Given the description of an element on the screen output the (x, y) to click on. 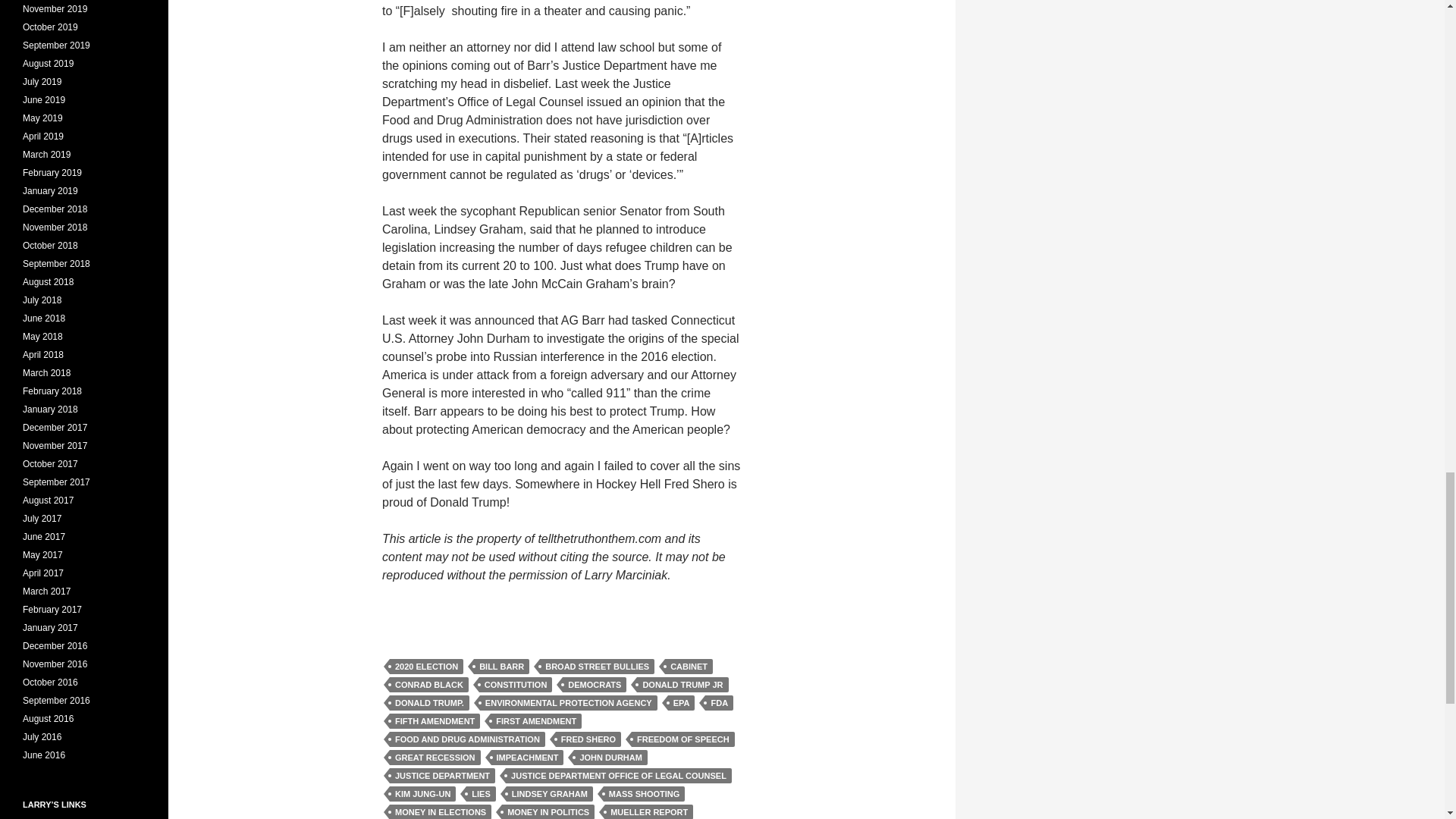
JUSTICE DEPARTMENT OFFICE OF LEGAL COUNSEL (618, 775)
CONSTITUTION (516, 684)
FIFTH AMENDMENT (435, 720)
JUSTICE DEPARTMENT (442, 775)
CONRAD BLACK (429, 684)
LIES (480, 793)
FRED SHERO (588, 739)
FIRST AMENDMENT (535, 720)
JOHN DURHAM (610, 757)
IMPEACHMENT (528, 757)
